Given the description of an element on the screen output the (x, y) to click on. 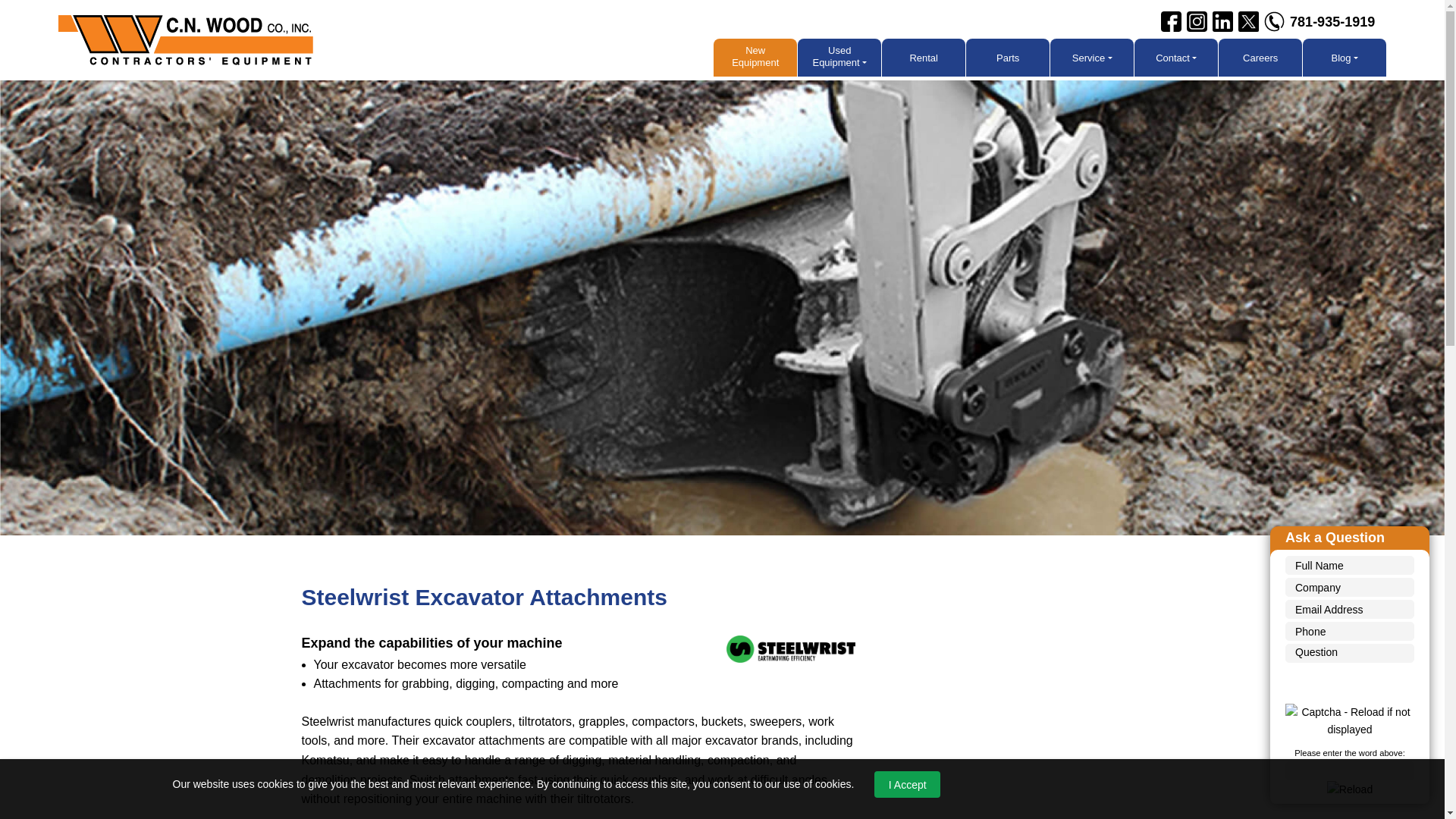
Service (1091, 57)
Contact (1175, 57)
Parts (1007, 57)
I Accept (907, 784)
New Equipment (754, 57)
Careers (1259, 57)
Blog (1344, 57)
Rental (923, 57)
Used Equipment (838, 57)
781-935-1919 (1332, 21)
